Given the description of an element on the screen output the (x, y) to click on. 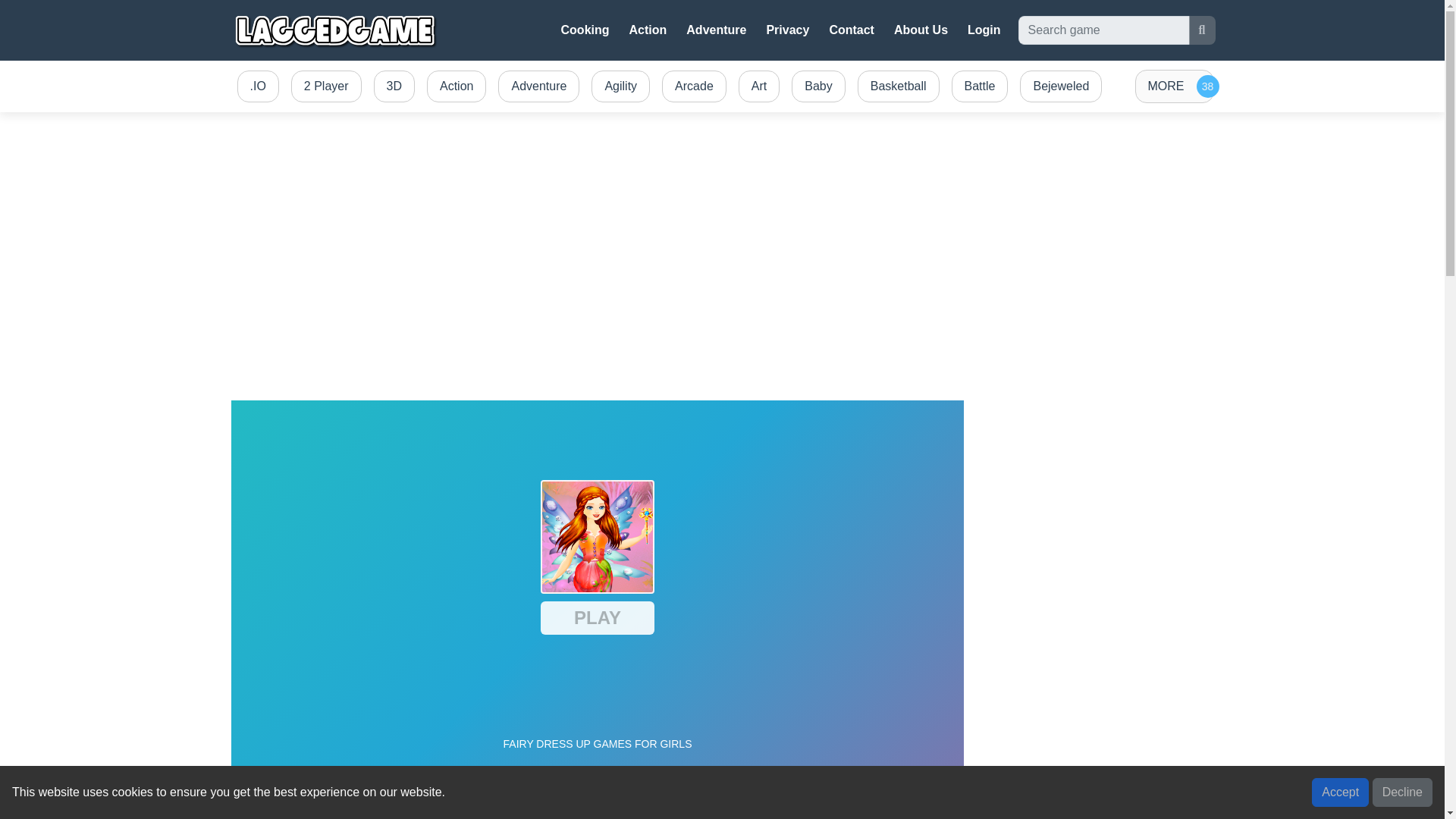
.IO (256, 86)
Art (759, 86)
About Us (920, 30)
3D (394, 86)
Agility (620, 86)
Baby (818, 86)
Battle (979, 86)
Action (647, 30)
Arcade (694, 86)
Login (983, 30)
Contact (851, 30)
Bejeweled (1060, 86)
Action (456, 86)
Adventure (538, 86)
